Given the description of an element on the screen output the (x, y) to click on. 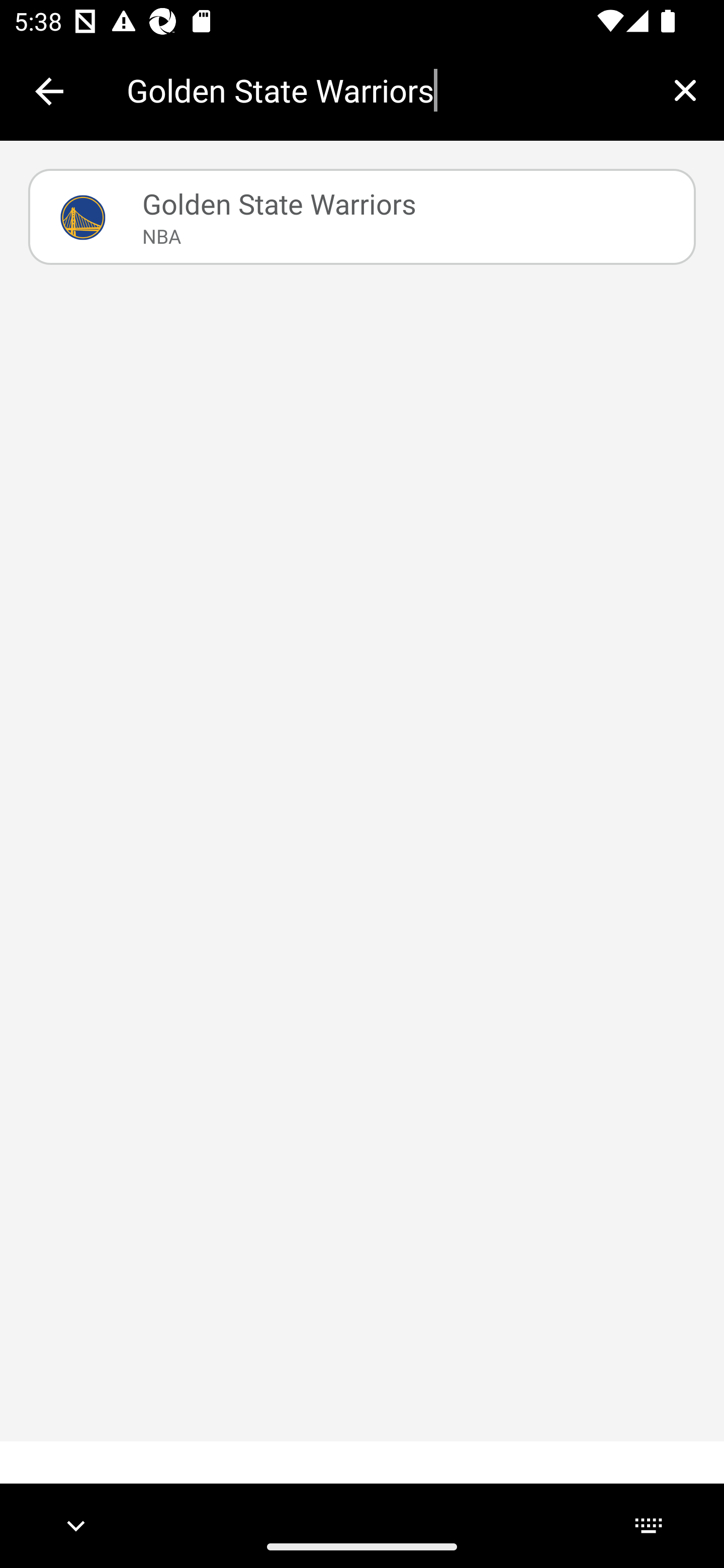
Collapse (49, 91)
Clear query (685, 89)
Golden State Warriors (386, 90)
Golden State Warriors NBA (361, 216)
